Given the description of an element on the screen output the (x, y) to click on. 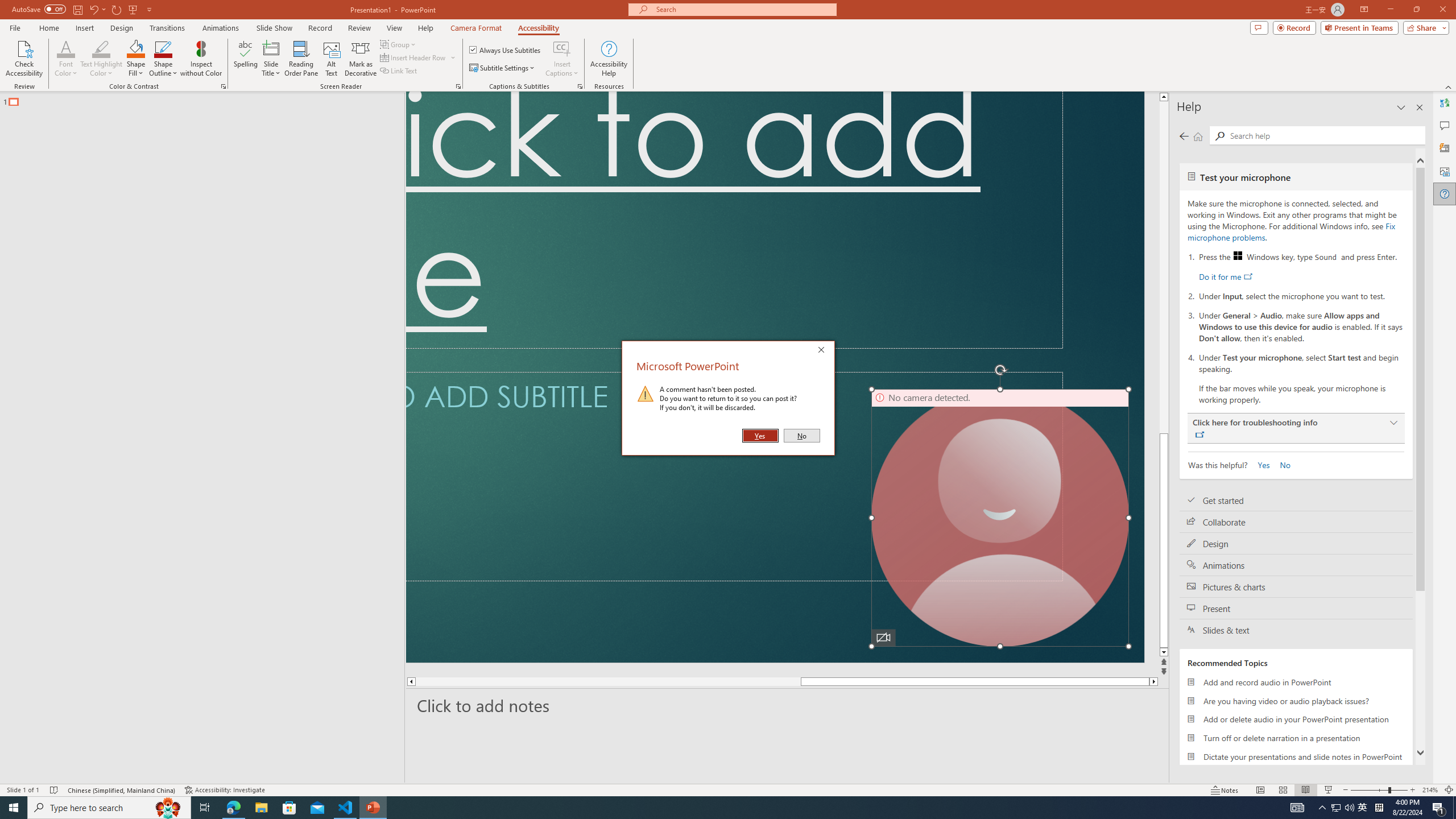
Yes (760, 435)
Add or delete audio in your PowerPoint presentation (1295, 719)
No (801, 435)
Under Input, select the microphone you want to test. (1301, 295)
Screen Reader (458, 85)
